Given the description of an element on the screen output the (x, y) to click on. 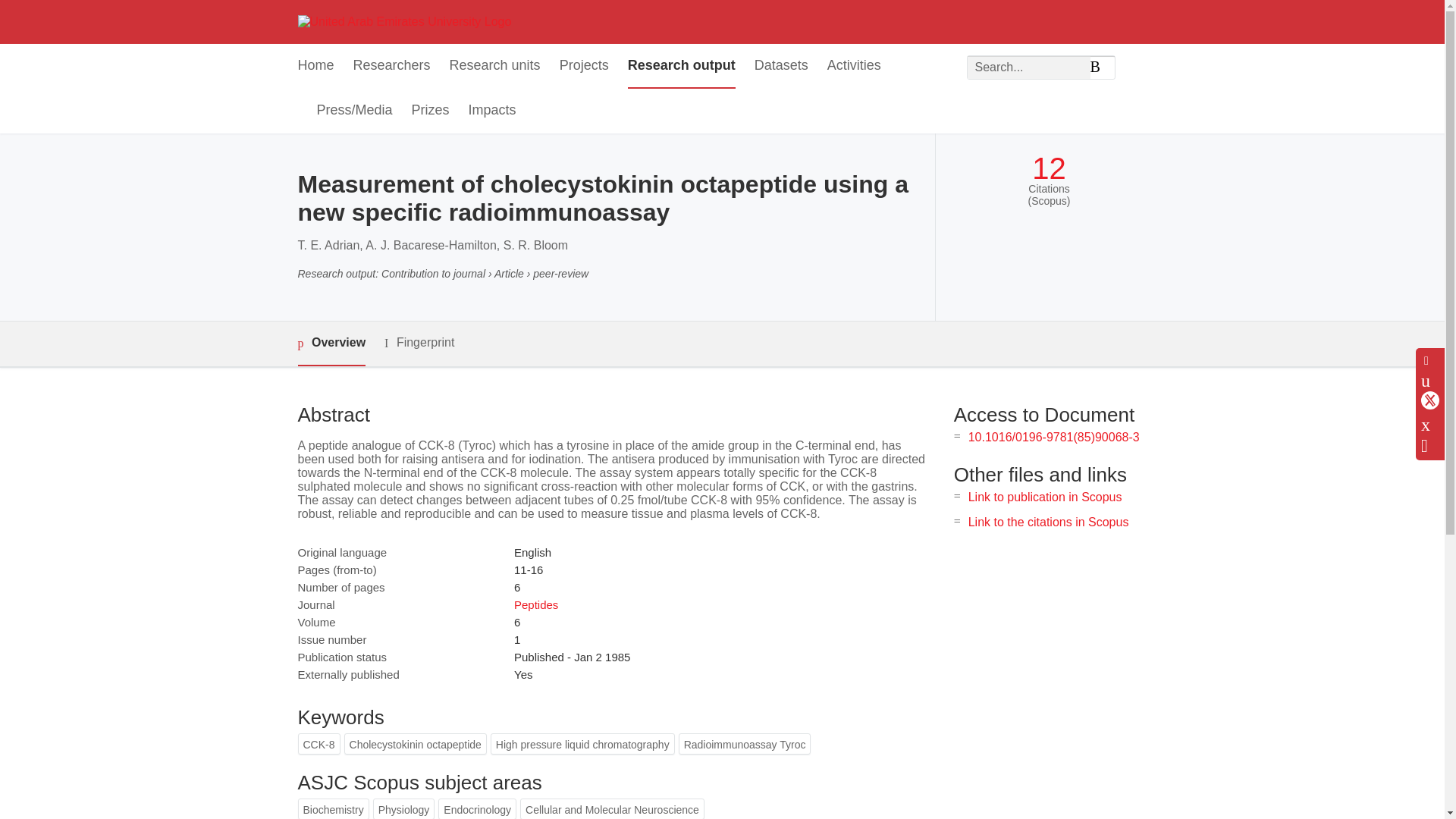
Datasets (781, 66)
Projects (583, 66)
Link to publication in Scopus (1045, 496)
12 (1048, 168)
Activities (853, 66)
Research output (681, 66)
Fingerprint (419, 342)
Researchers (391, 66)
Research units (494, 66)
Overview (331, 343)
